Given the description of an element on the screen output the (x, y) to click on. 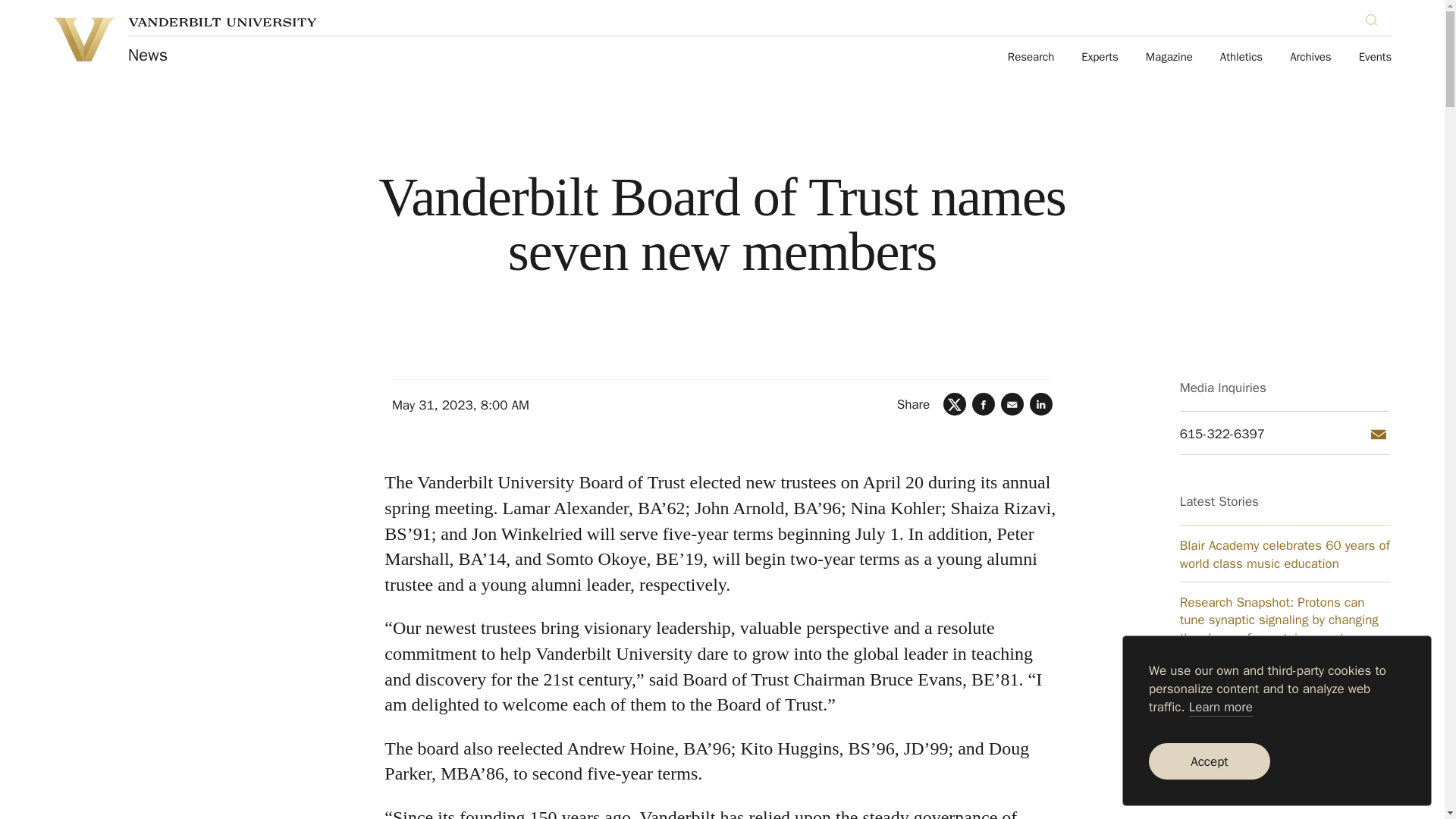
Email (1378, 434)
Vanderbilt University (83, 39)
News (147, 55)
Events (1374, 57)
LinkedIn (1040, 404)
Archives (1311, 57)
Email (1012, 404)
Research (1030, 57)
Experts (1099, 57)
